Given the description of an element on the screen output the (x, y) to click on. 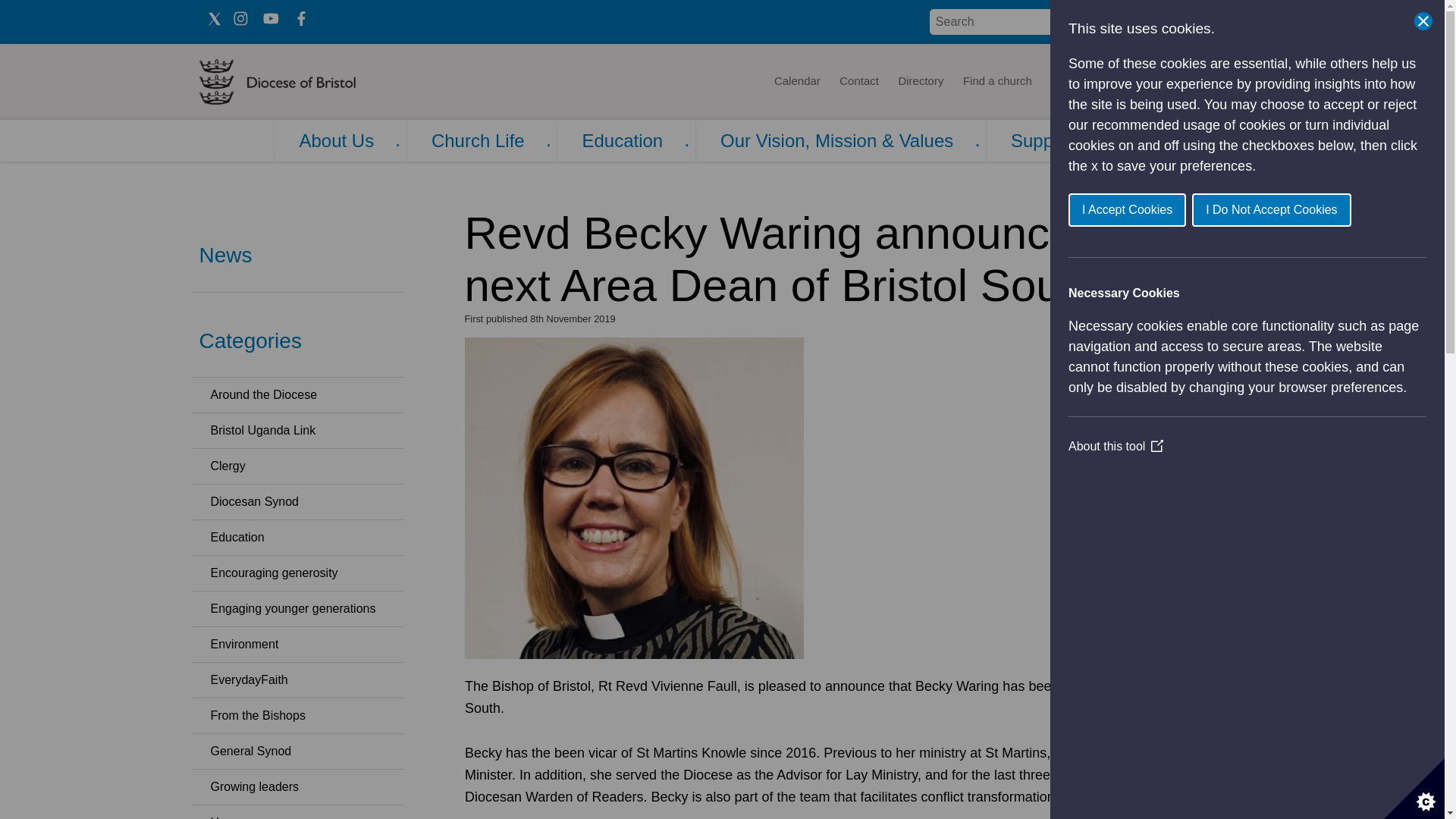
Calendar (797, 81)
News (1064, 81)
Vacancies (1124, 81)
Contact (858, 81)
Safeguarding (1203, 81)
Logo (323, 81)
Directory (920, 81)
